Given the description of an element on the screen output the (x, y) to click on. 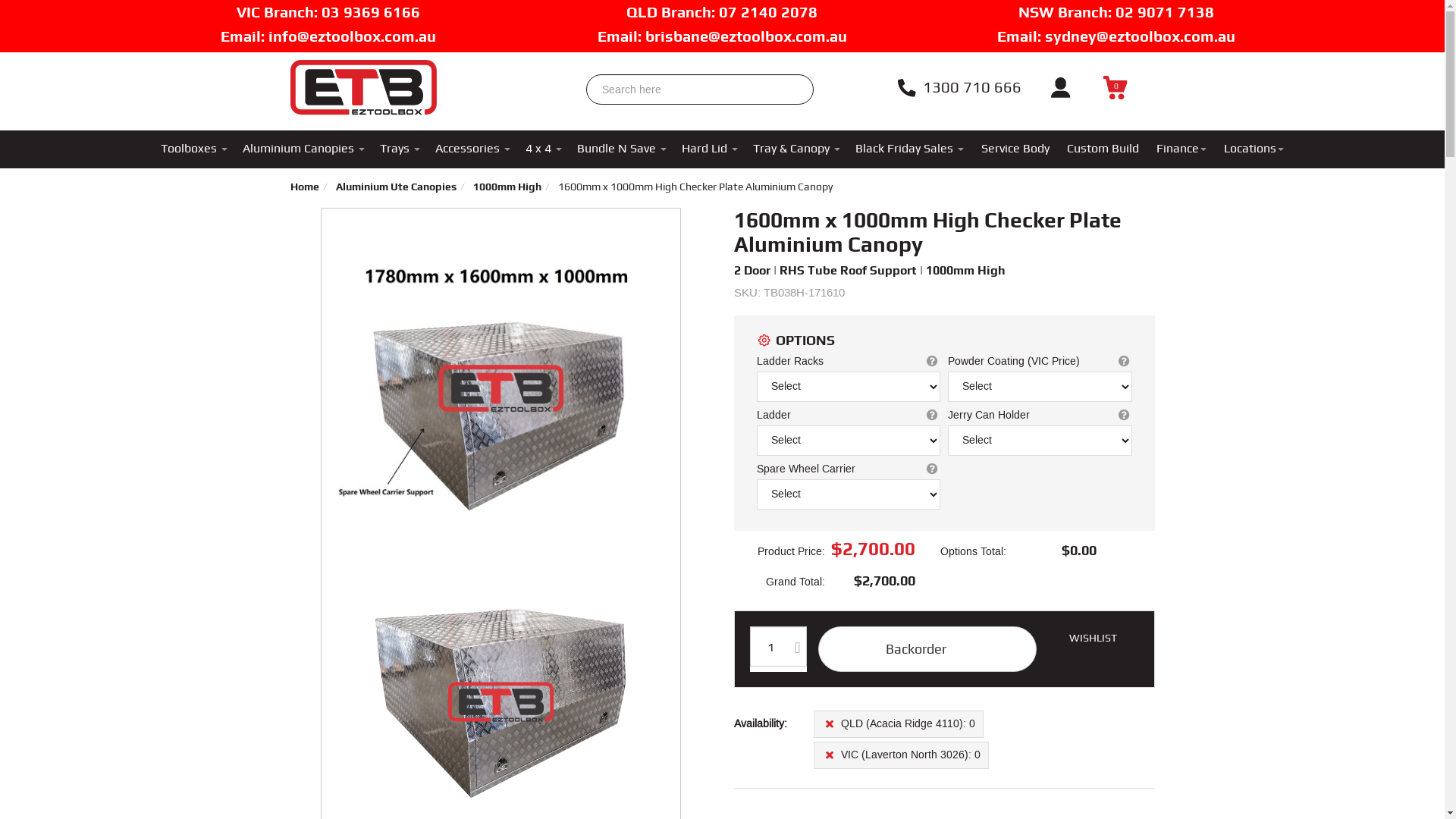
1600mm x 1000mm High Checker Plate Aluminium Canopy Element type: text (695, 186)
Custom Build Element type: text (1102, 149)
NSW Branch: 02 9071 7138 Element type: text (1116, 11)
Search Element type: text (792, 79)
Service Body Element type: text (1015, 149)
Finance Element type: text (1181, 149)
VIC Branch: 03 9369 6166 Element type: text (328, 11)
1300 710 666 Element type: text (958, 85)
Email: sydney@eztoolbox.com.au Element type: text (1116, 35)
4 x 4 Element type: text (543, 149)
Toolboxes Element type: text (194, 149)
Home Element type: text (303, 186)
0 Element type: text (1114, 86)
QLD Branch: 07 2140 2078 Element type: text (721, 11)
Hard Lid Element type: text (709, 149)
Accessories Element type: text (472, 149)
Aluminium Canopies Element type: text (303, 149)
Tray & Canopy Element type: text (796, 149)
Trays Element type: text (399, 149)
Email: info@eztoolbox.com.au Element type: text (328, 35)
Locations Element type: text (1253, 149)
Bundle N Save Element type: text (621, 149)
Backorder Element type: text (926, 648)
Aluminium Ute Canopies Element type: text (395, 186)
Email: brisbane@eztoolbox.com.au Element type: text (722, 35)
Black Friday Sales Element type: text (909, 149)
1000mm High Element type: text (507, 186)
eztoolbox Element type: hover (362, 82)
WISHLIST Element type: text (1093, 637)
